Given the description of an element on the screen output the (x, y) to click on. 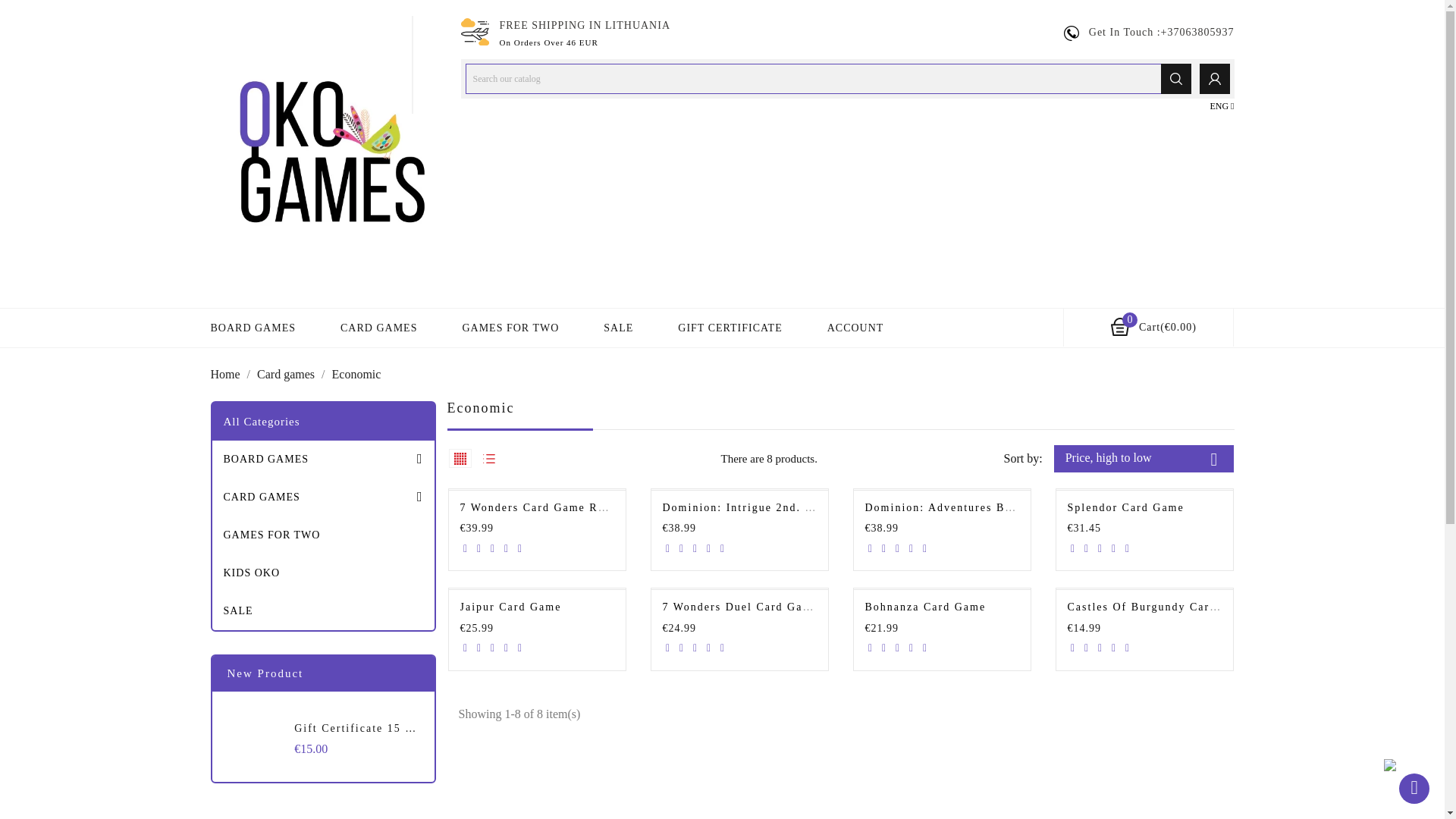
ENG (1221, 105)
ACCOUNT (855, 327)
BOARD GAMES (322, 459)
BOARD GAMES (254, 327)
GIFT CERTIFICATE (729, 327)
CARD GAMES (322, 497)
Home (227, 373)
SALE (618, 327)
Card games (287, 373)
CARD GAMES (378, 327)
